Given the description of an element on the screen output the (x, y) to click on. 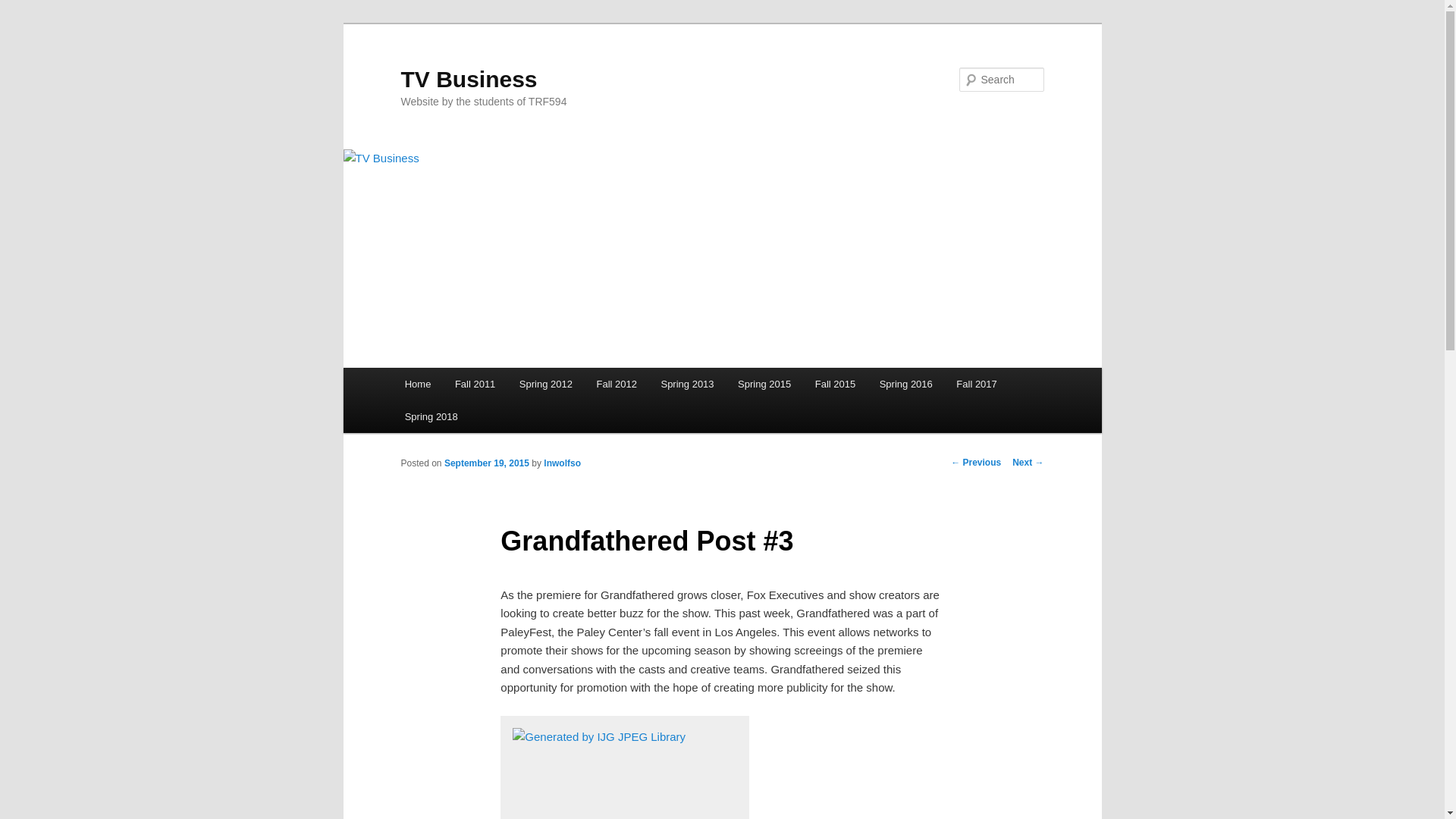
Search (24, 8)
September 19, 2015 (486, 462)
2:55 pm (486, 462)
Fall 2015 (835, 383)
Spring 2015 (764, 383)
Spring 2016 (905, 383)
Spring 2012 (545, 383)
Home (417, 383)
Spring 2013 (687, 383)
Fall 2011 (474, 383)
Fall 2012 (617, 383)
Spring 2018 (431, 416)
lnwolfso (561, 462)
Fall 2017 (976, 383)
